Given the description of an element on the screen output the (x, y) to click on. 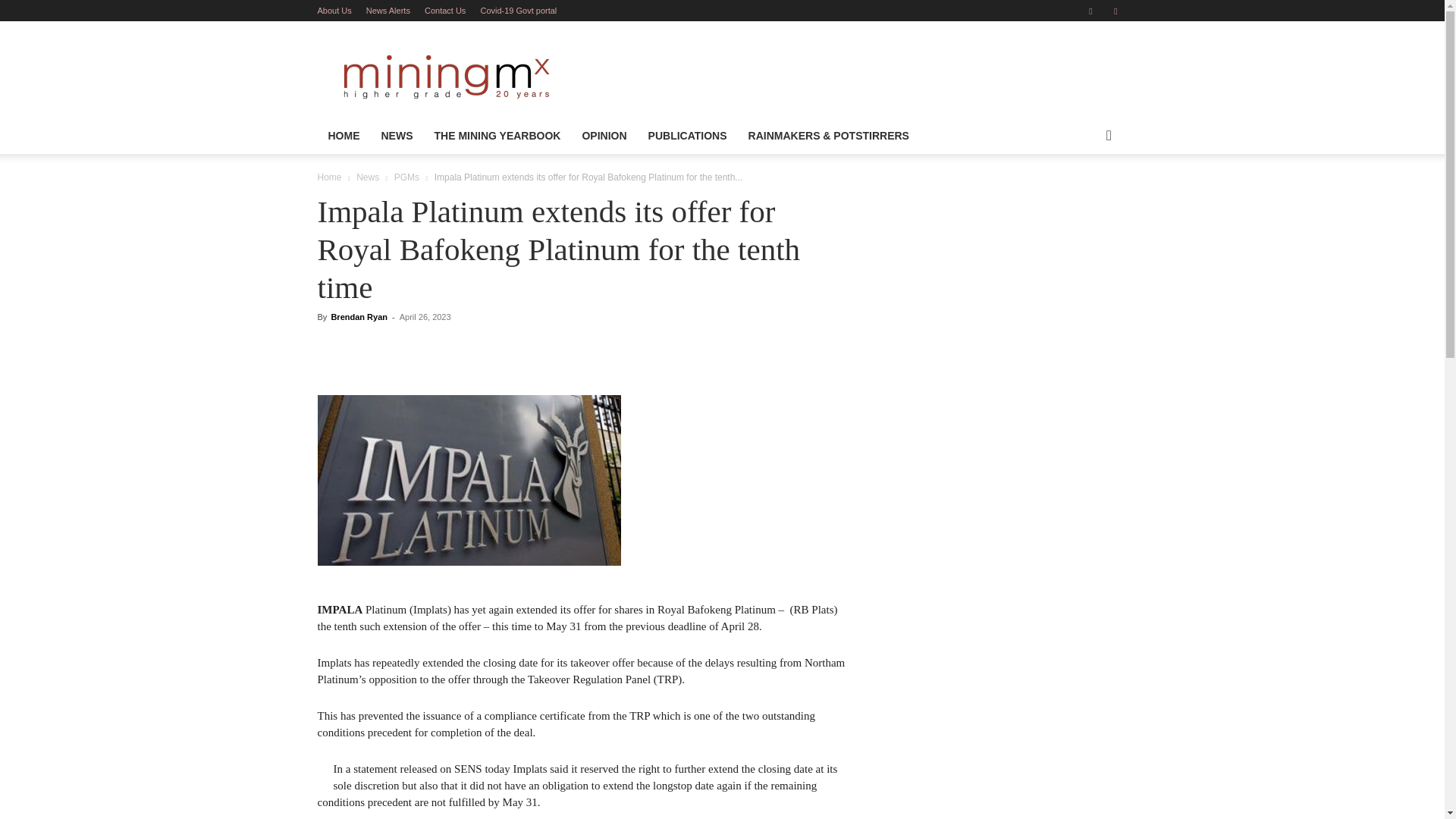
NEWS (396, 135)
View all posts in News (367, 176)
Covid-19 Govt portal (518, 10)
Twitter (1114, 10)
Contact Us (445, 10)
Linkedin (1090, 10)
HOME (343, 135)
News Alerts (388, 10)
About Us (333, 10)
